Given the description of an element on the screen output the (x, y) to click on. 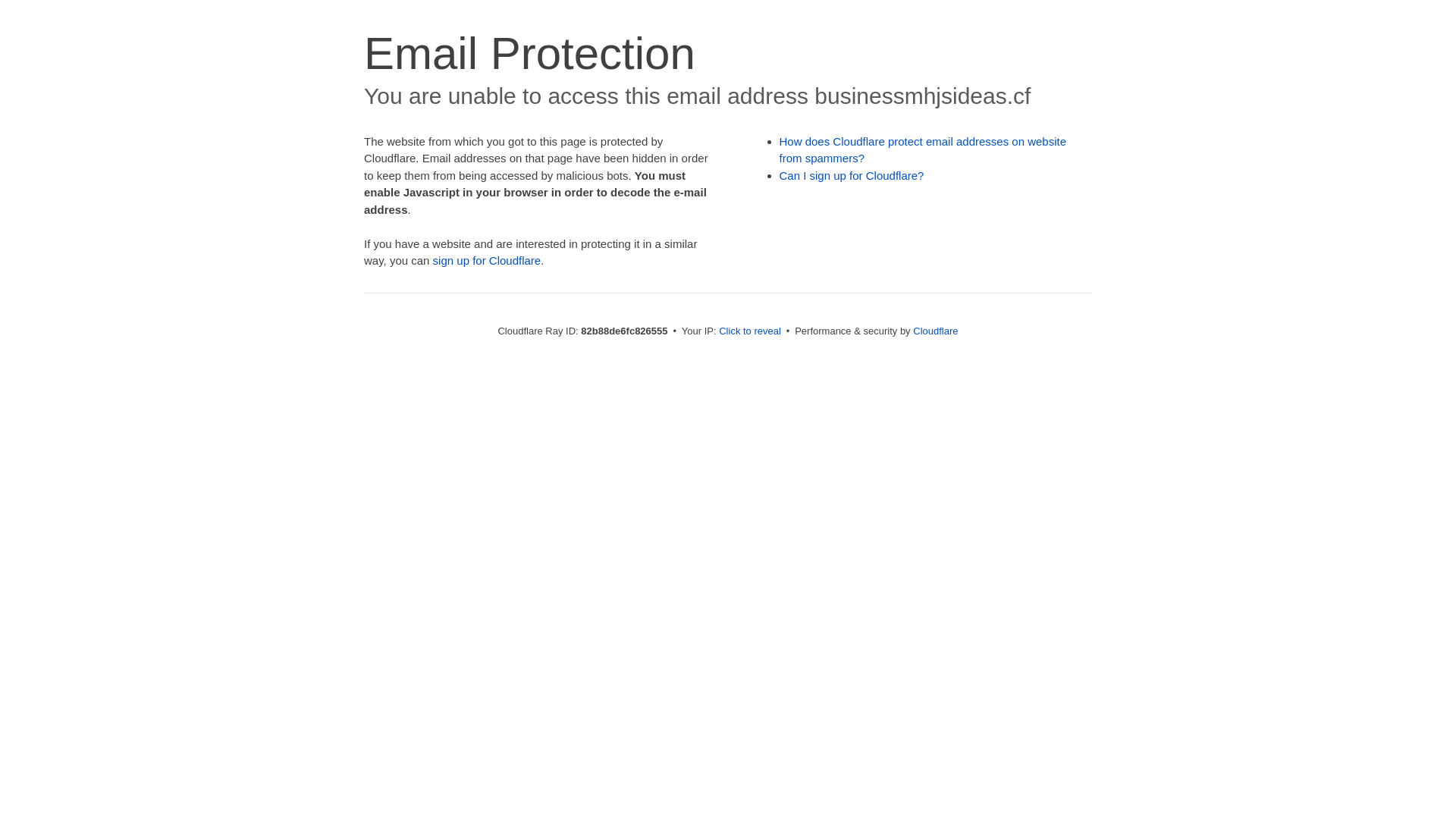
Click to reveal Element type: text (749, 330)
Can I sign up for Cloudflare? Element type: text (851, 175)
sign up for Cloudflare Element type: text (487, 260)
Cloudflare Element type: text (935, 330)
